Given the description of an element on the screen output the (x, y) to click on. 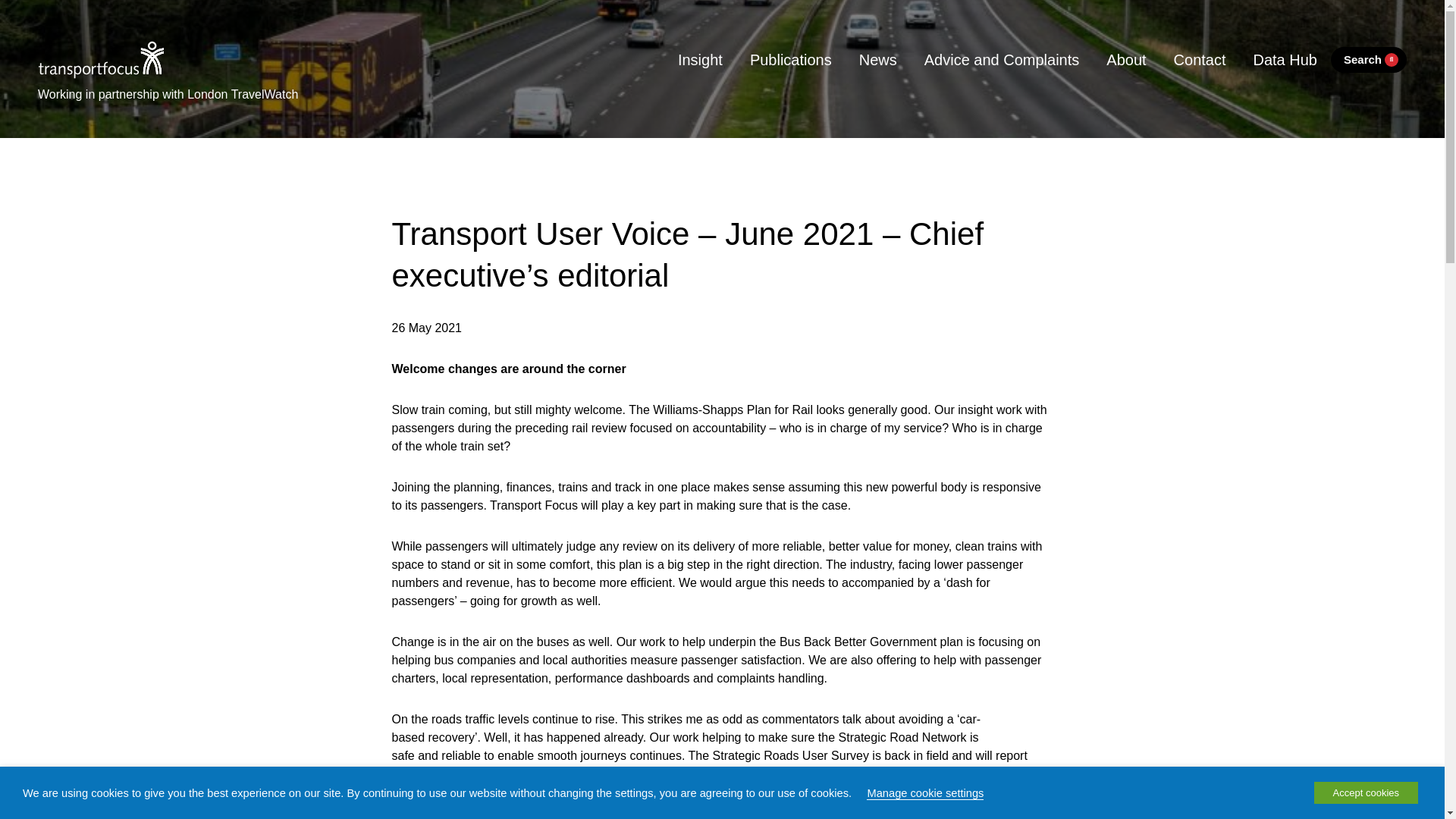
Publications (790, 59)
Logistics and Coach Survey: Strategic Roads (745, 774)
Advice and Complaints (1002, 59)
News (878, 59)
Data Hub (1284, 59)
Contact (1200, 59)
About (1125, 59)
Insight (699, 59)
Working in partnership with London TravelWatch (167, 91)
Search (1368, 59)
